Given the description of an element on the screen output the (x, y) to click on. 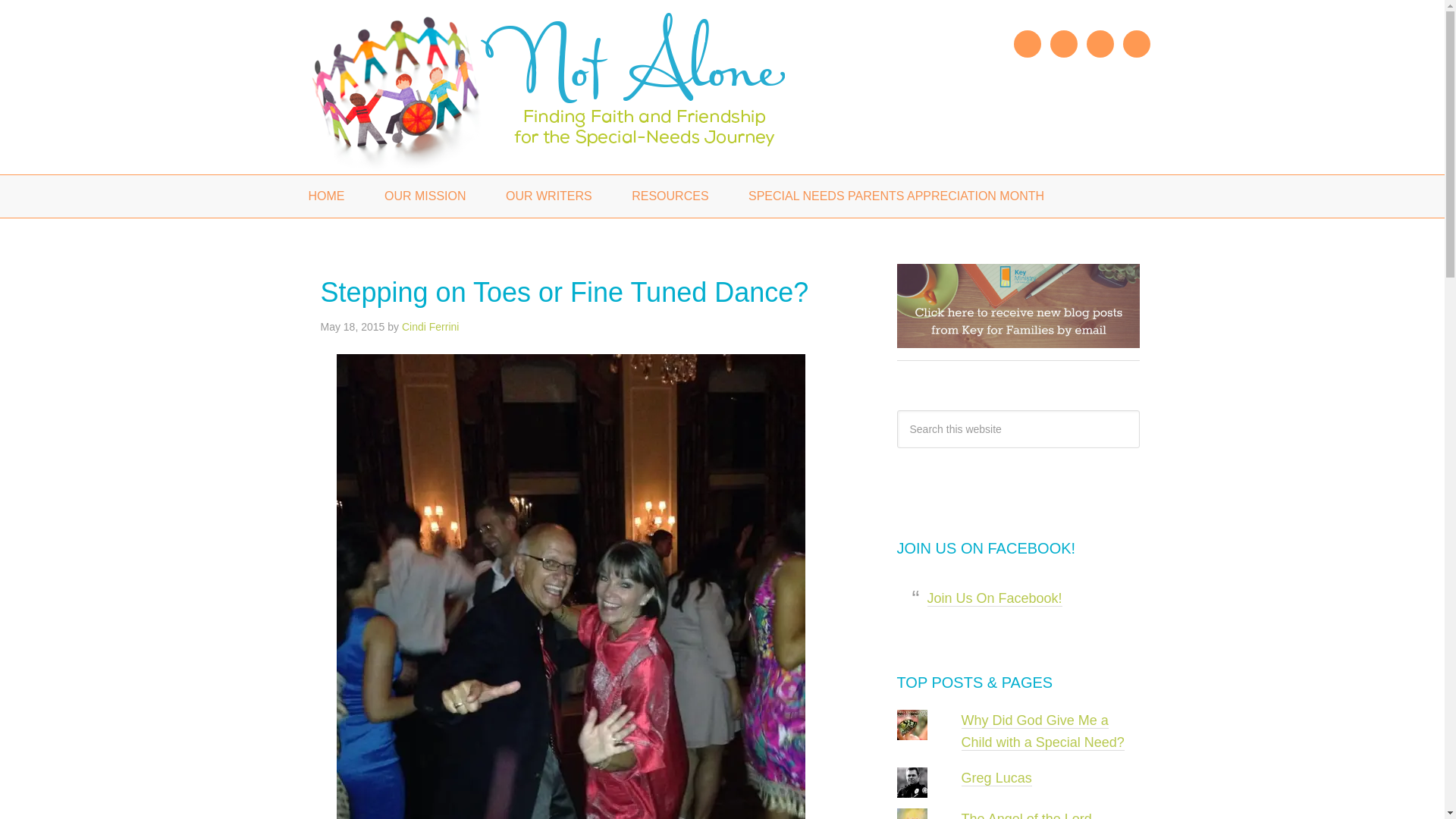
HOME (325, 196)
Cindi Ferrini (429, 326)
SPECIAL NEEDS PARENTING (577, 87)
OUR MISSION (425, 196)
SPECIAL NEEDS PARENTS APPRECIATION MONTH (896, 196)
RESOURCES (669, 196)
Meet Our Writing Team (548, 196)
OUR WRITERS (548, 196)
